Given the description of an element on the screen output the (x, y) to click on. 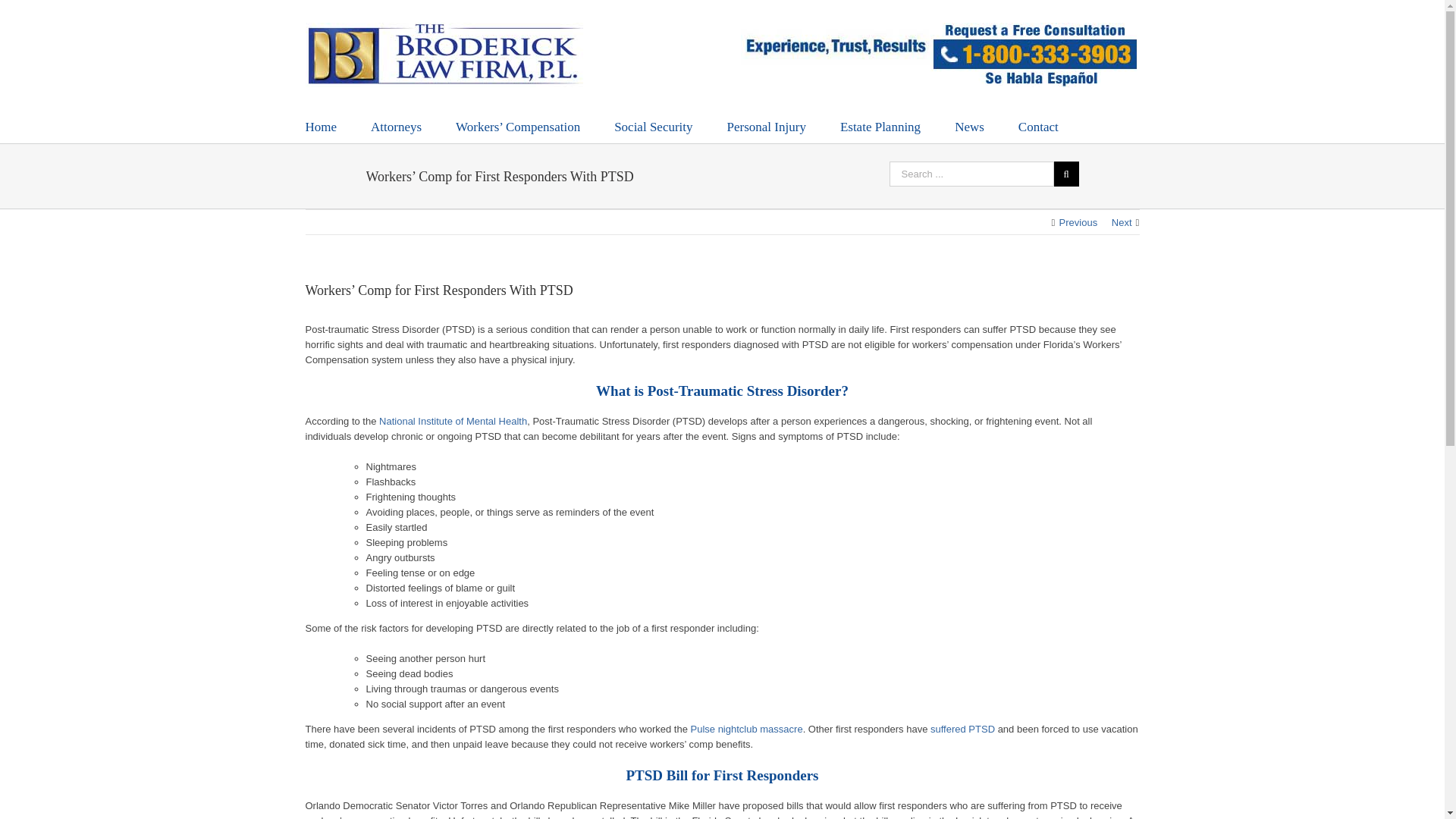
Attorneys (396, 126)
Estate Planning (880, 126)
News (969, 126)
Social Security (653, 126)
Home (320, 126)
Contact (1037, 126)
Personal Injury (766, 126)
